Given the description of an element on the screen output the (x, y) to click on. 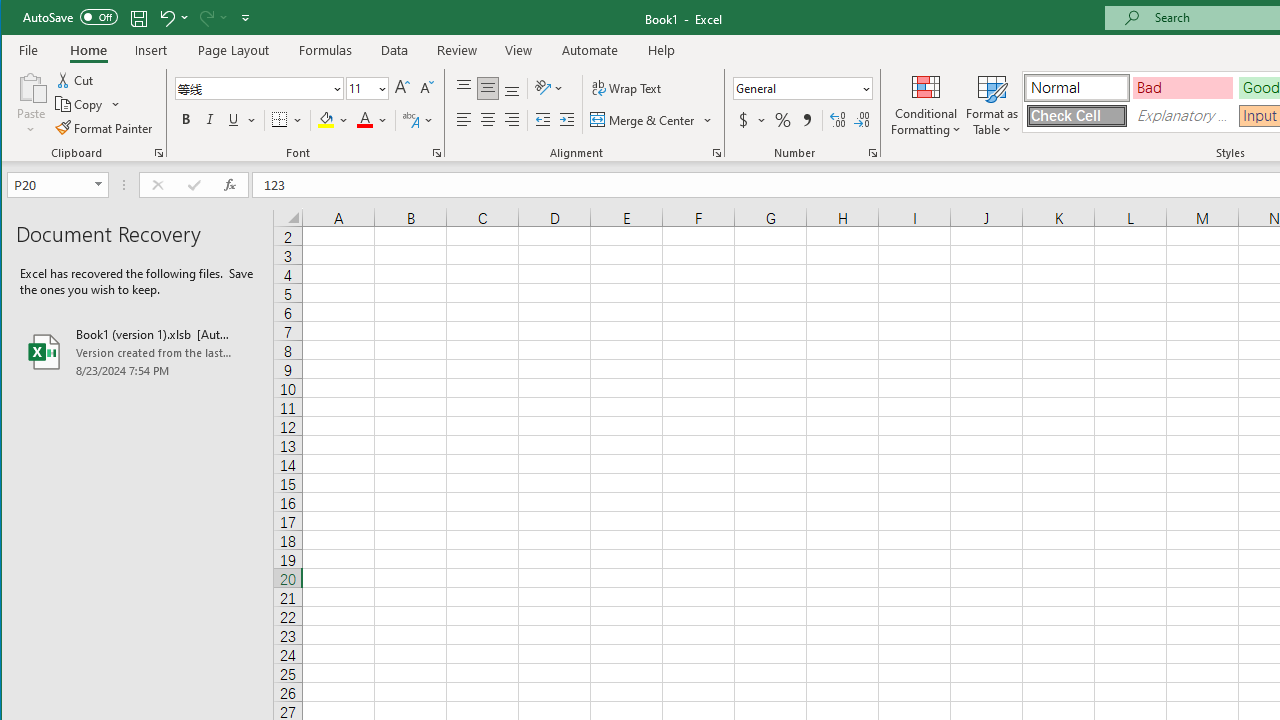
Bottom Align (511, 88)
Underline (233, 119)
Accounting Number Format (744, 119)
Font Color (372, 119)
Explanatory Text (1183, 116)
Merge & Center (644, 119)
Number Format (802, 88)
Percent Style (782, 119)
Bold (186, 119)
Align Left (463, 119)
